Given the description of an element on the screen output the (x, y) to click on. 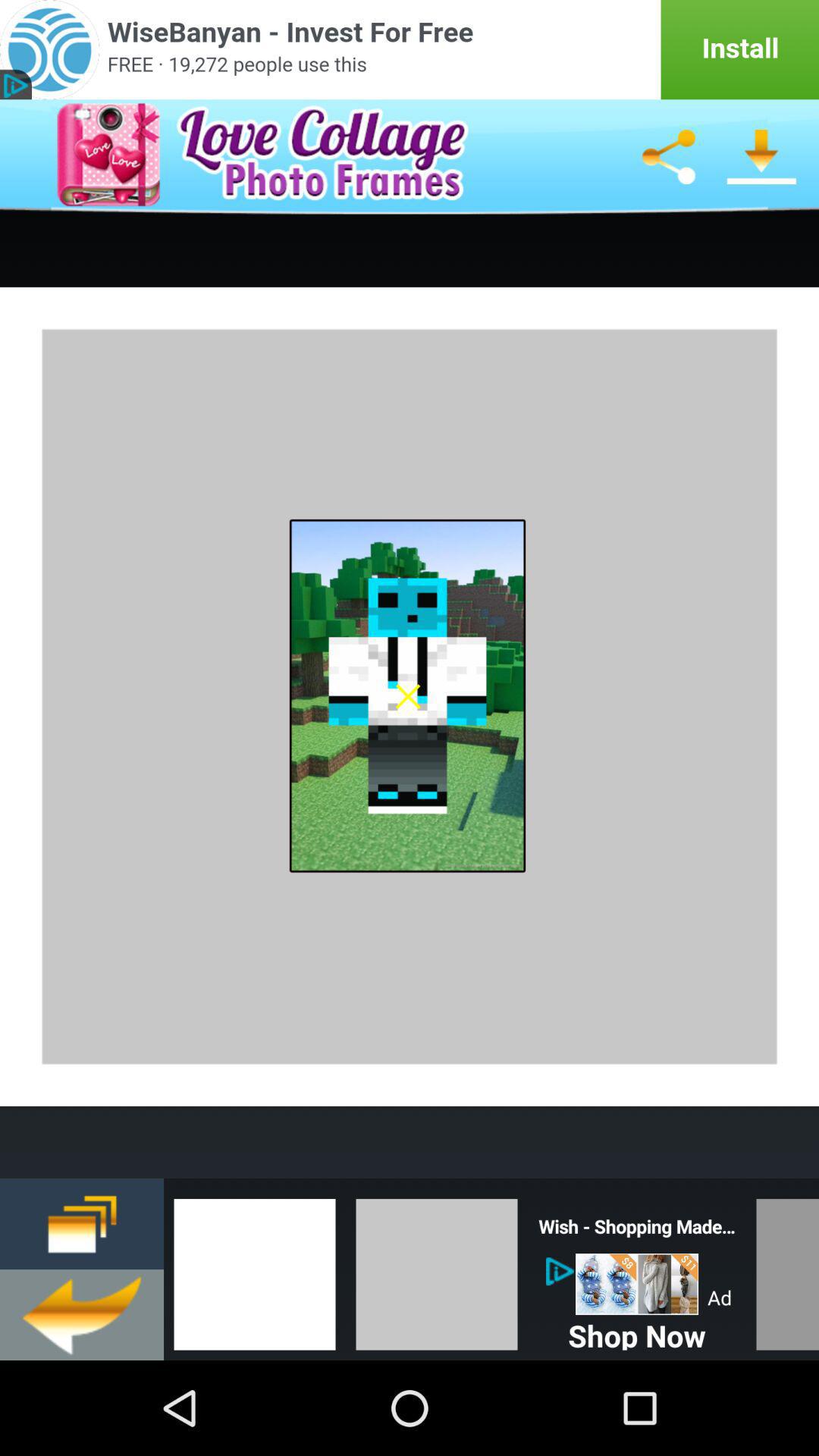
download (762, 156)
